Given the description of an element on the screen output the (x, y) to click on. 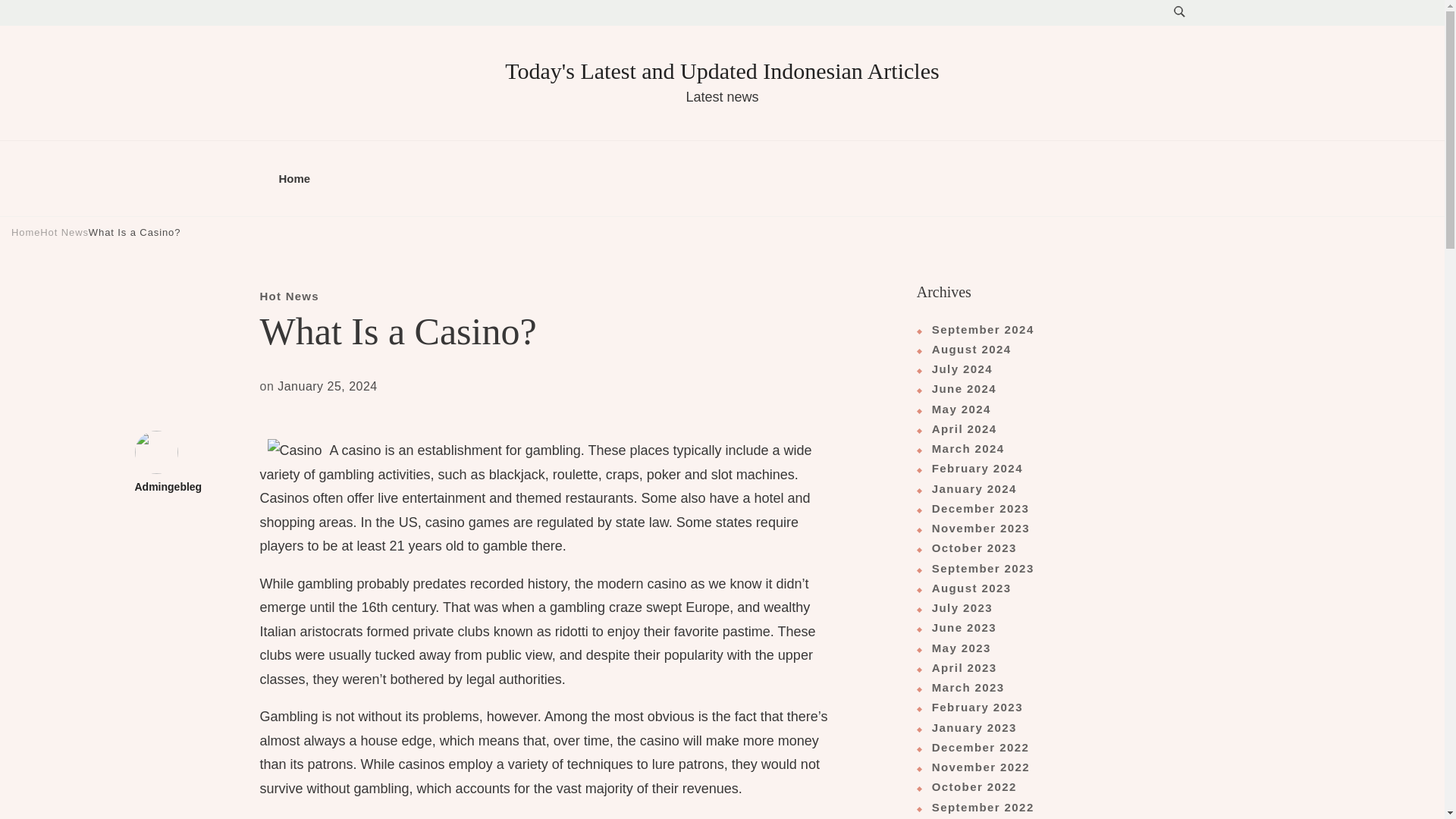
Hot News (288, 296)
July 2024 (954, 369)
April 2024 (957, 428)
January 2024 (966, 488)
February 2024 (970, 468)
June 2024 (956, 388)
May 2024 (954, 409)
March 2024 (960, 448)
August 2024 (964, 349)
Hot News (64, 232)
